Given the description of an element on the screen output the (x, y) to click on. 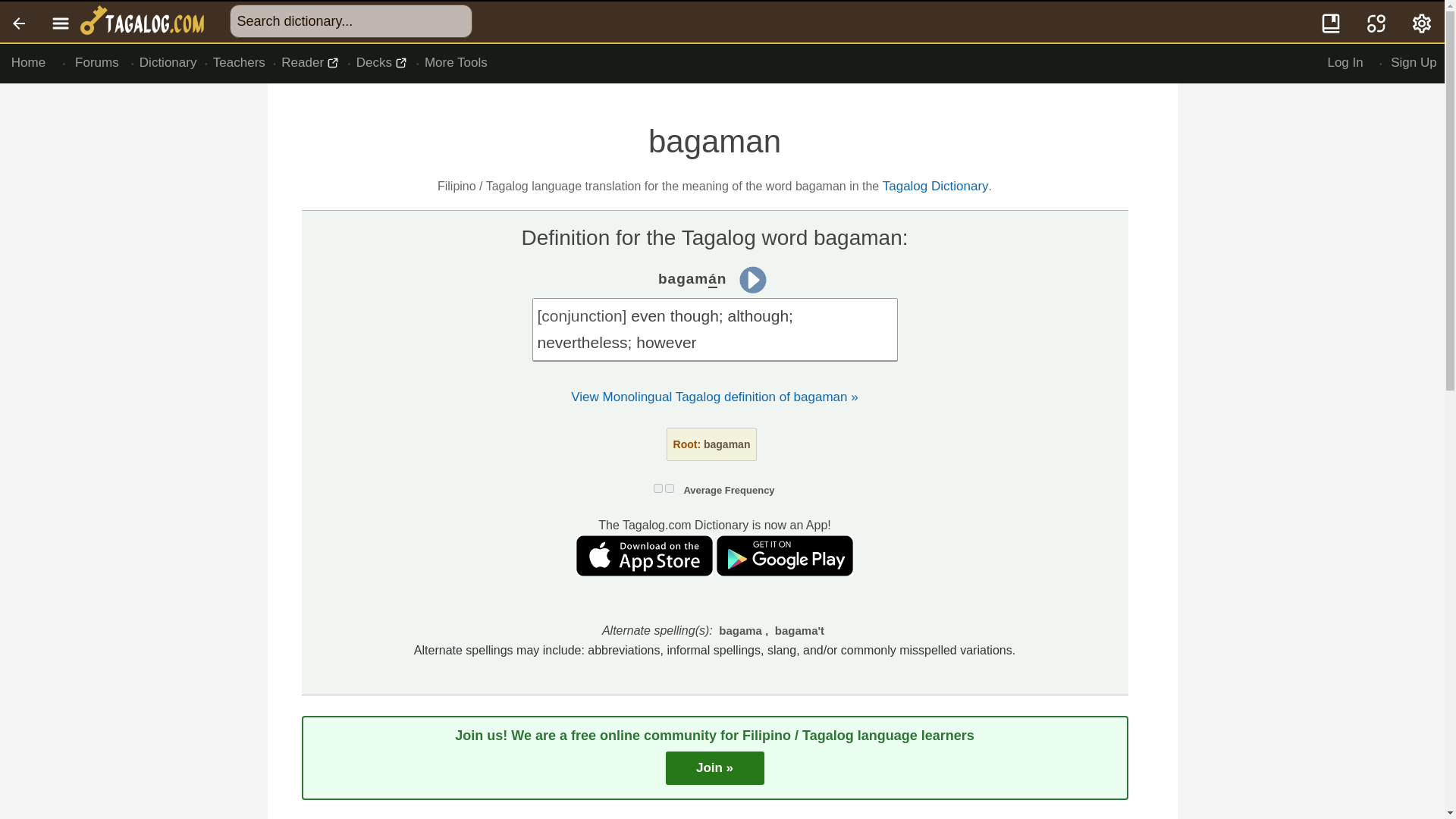
Forums (96, 62)
bagama (740, 629)
Log In (1345, 62)
Android App (784, 572)
My Account (1422, 21)
Reader (310, 62)
Sign Up (1414, 62)
Root: bagaman (711, 444)
Tagalog Logo (144, 21)
Decks (381, 62)
Average Frequency (728, 490)
Home (28, 62)
Translate To English (1376, 21)
Teachers (239, 62)
More Tools (455, 62)
